Given the description of an element on the screen output the (x, y) to click on. 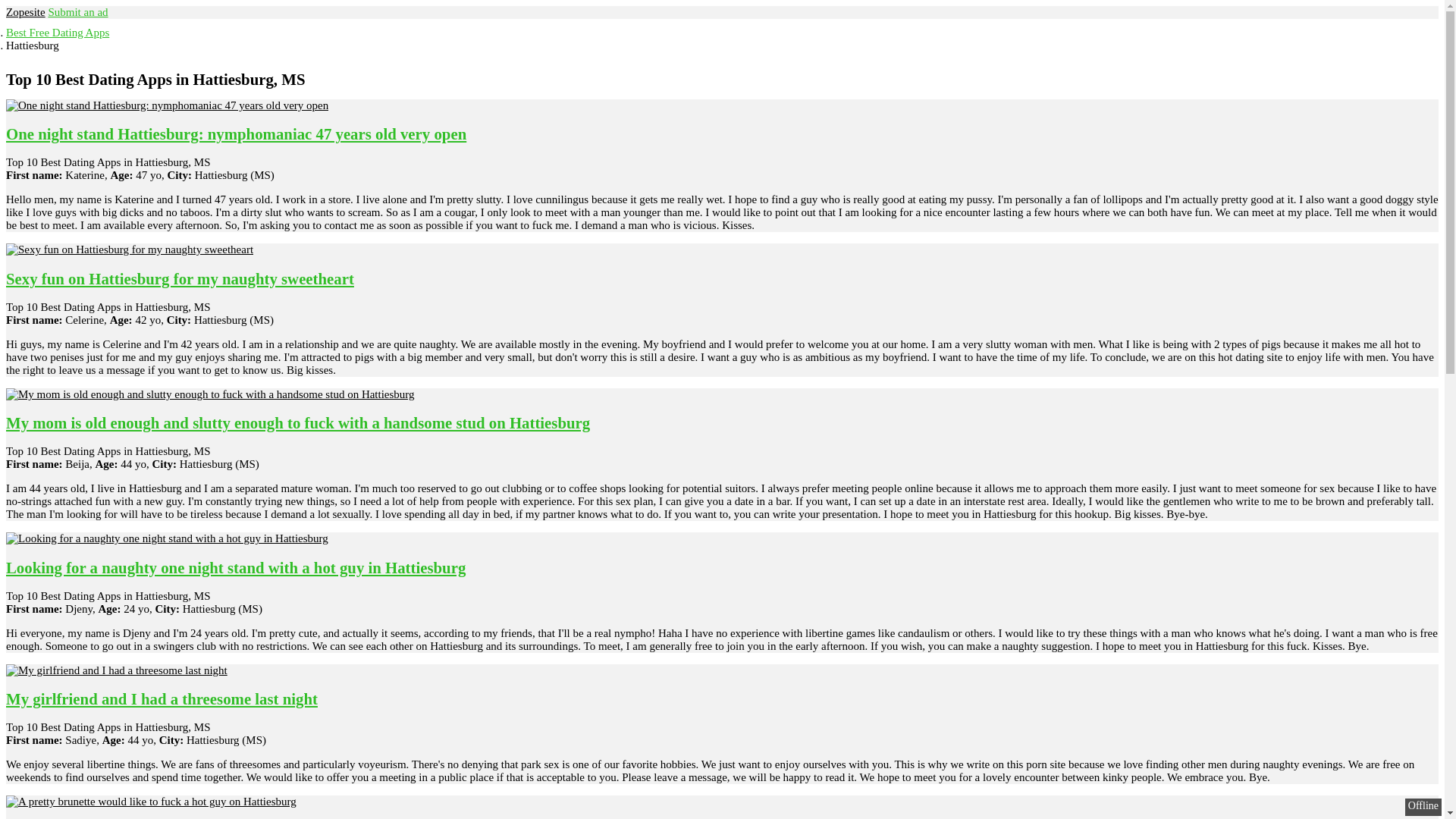
My girlfriend and I had a threesome last night (161, 698)
Submit an ad (77, 11)
Best Free Dating Apps (57, 32)
Sexy fun on Hattiesburg for my naughty sweetheart (179, 278)
Zopesite (25, 11)
